Given the description of an element on the screen output the (x, y) to click on. 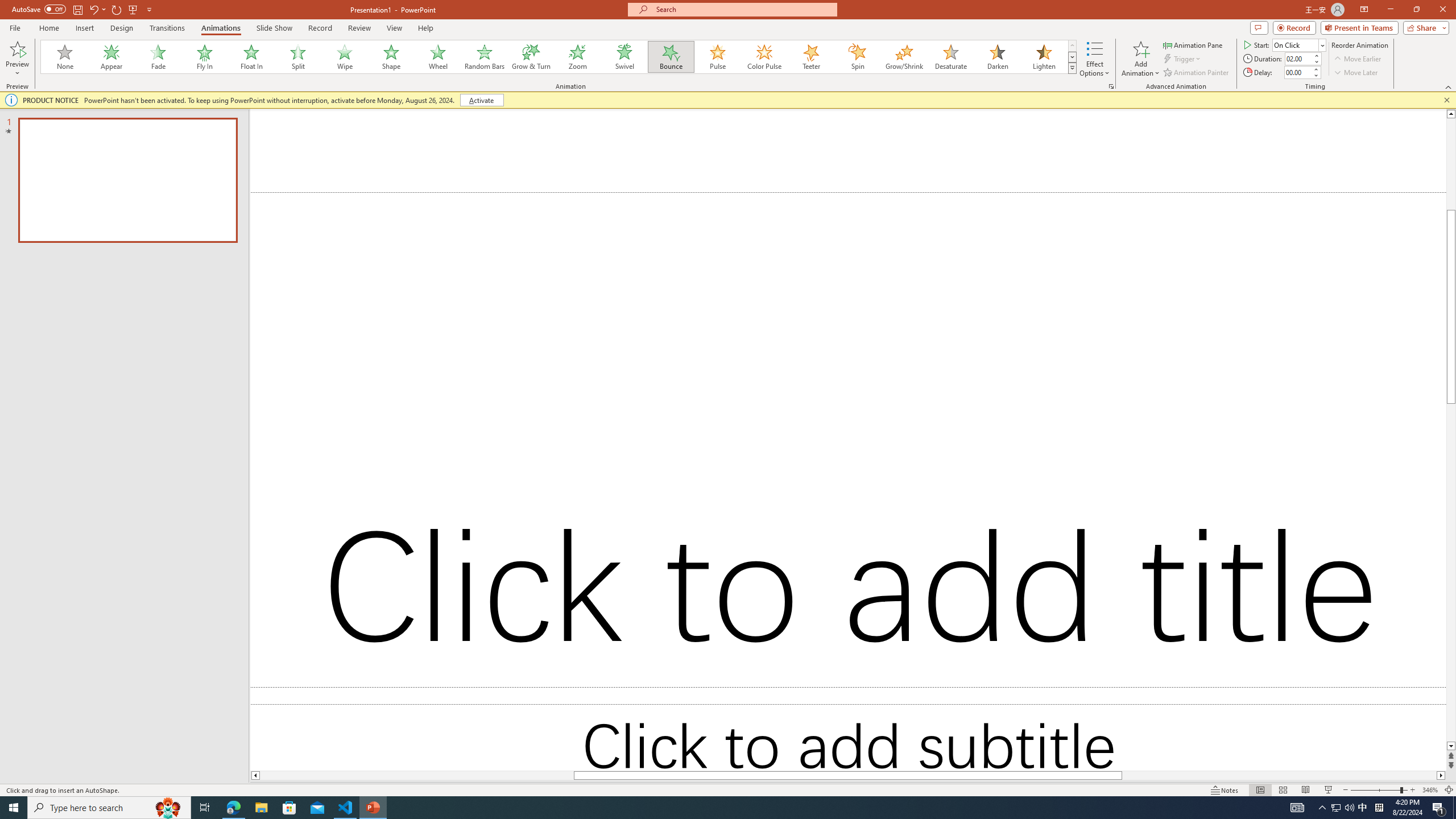
Grow & Turn (531, 56)
